Given the description of an element on the screen output the (x, y) to click on. 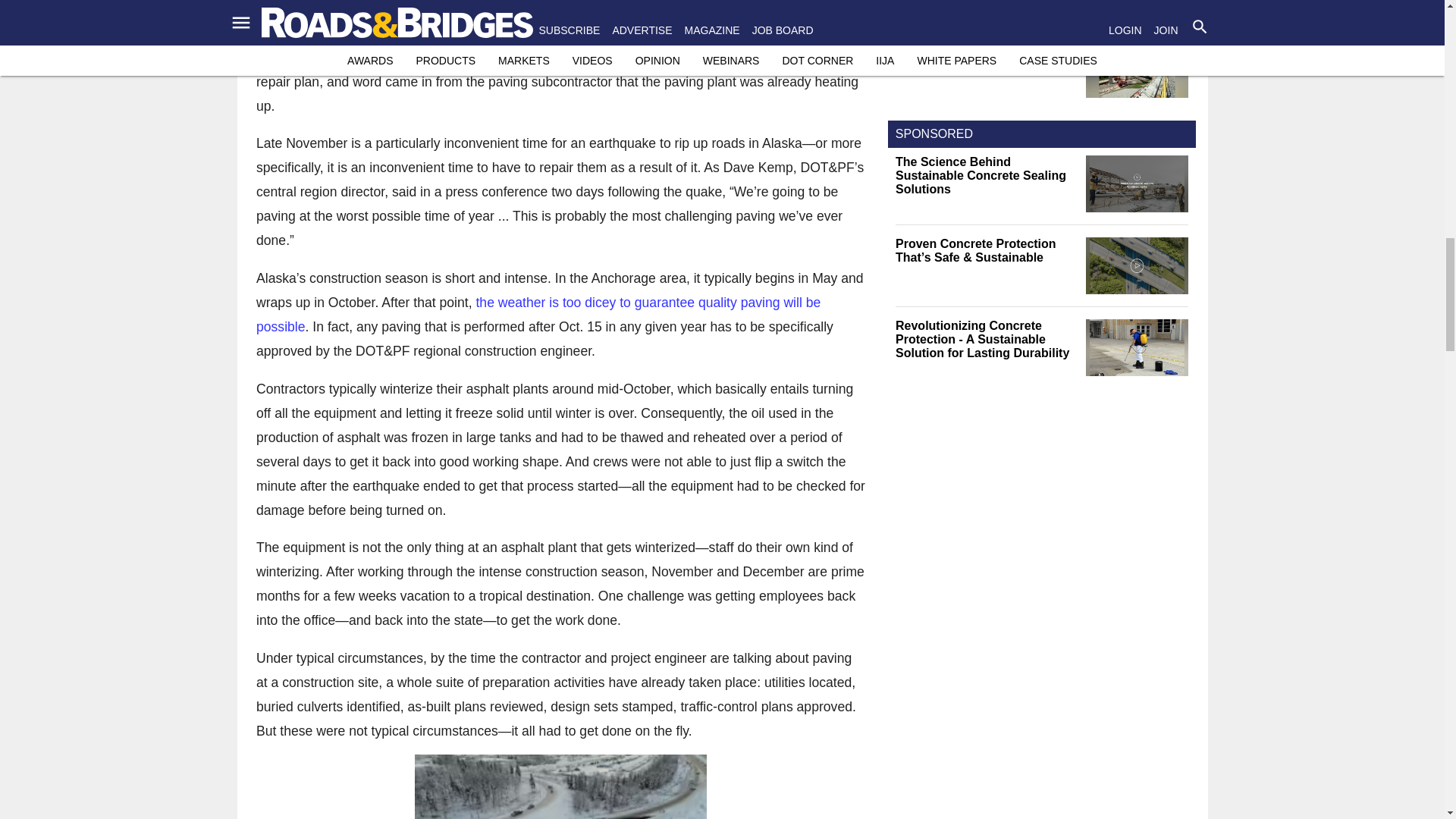
Nov-30-damage-2 (559, 786)
